Given the description of an element on the screen output the (x, y) to click on. 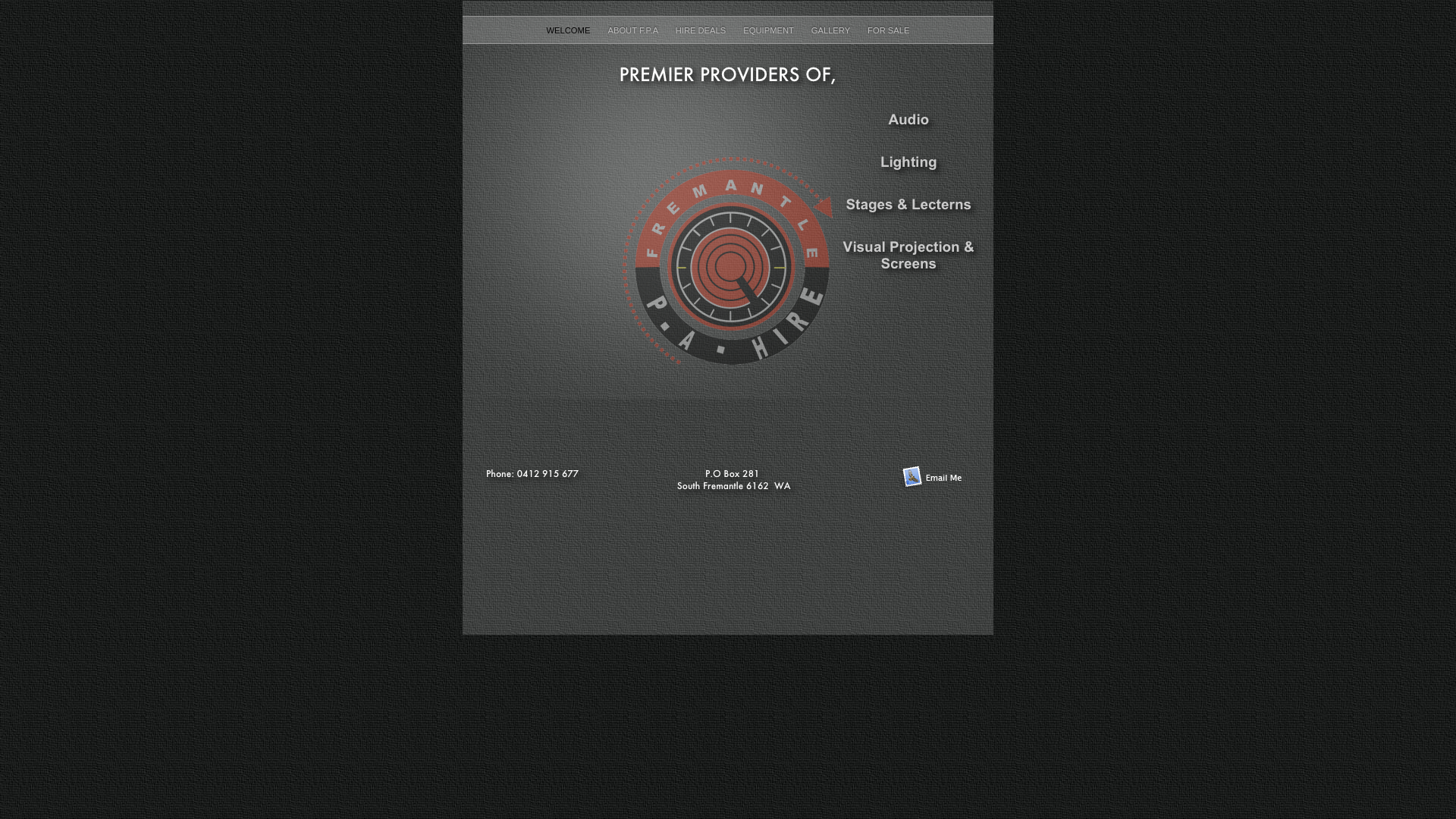
FOR SALE Element type: text (888, 29)
GALLERY Element type: text (831, 29)
WELCOME Element type: text (569, 29)
HIRE DEALS Element type: text (701, 29)
ABOUT F.P.A Element type: text (633, 29)
EQUIPMENT Element type: text (769, 29)
